Given the description of an element on the screen output the (x, y) to click on. 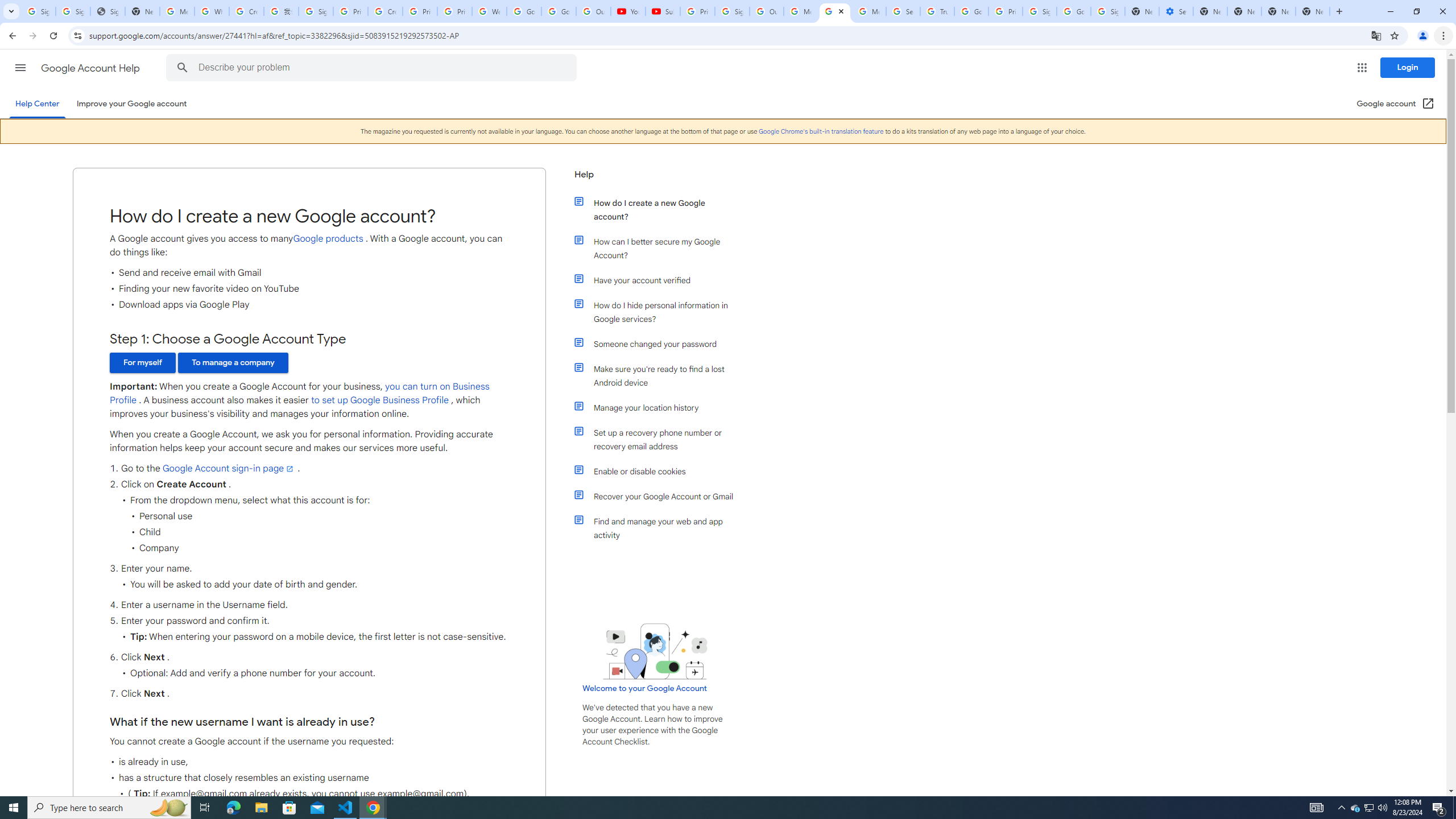
Sign in - Google Accounts (73, 11)
Restore (1416, 11)
Google Chrome's built-in translation feature (820, 131)
For myself (142, 362)
Google Cybersecurity Innovations - Google Safety Center (1073, 11)
Search our Doodle Library Collection - Google Doodles (903, 11)
Sign in - Google Accounts (1039, 11)
New Tab (1209, 11)
Reload (52, 35)
Welcome to your Google Account (644, 688)
Recover your Google Account or Gmail (661, 496)
Address and search bar (726, 35)
Enable or disable cookies (661, 471)
System (6, 6)
